Given the description of an element on the screen output the (x, y) to click on. 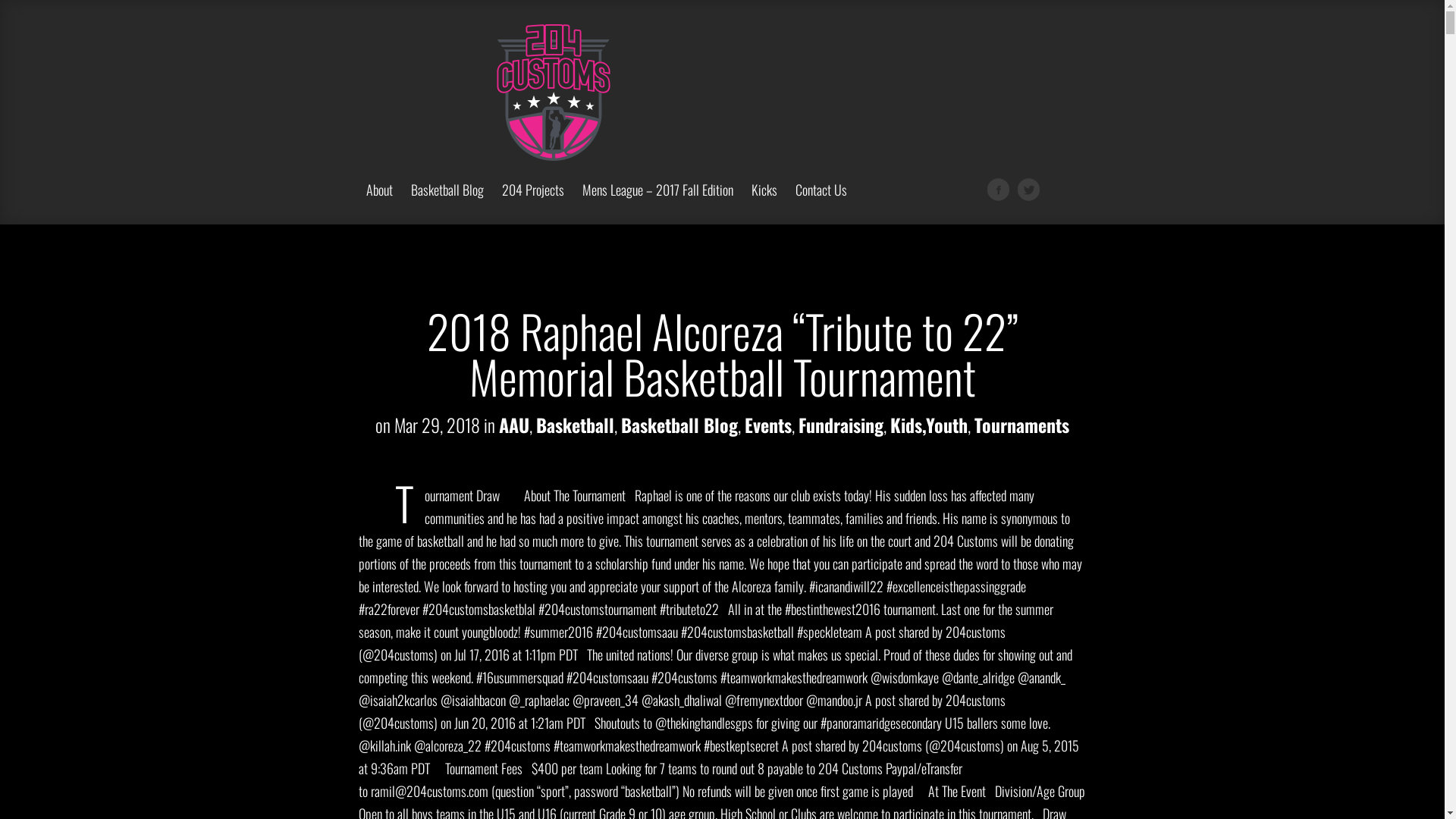
AAU Element type: text (513, 424)
204 Projects Element type: text (532, 203)
Contact Us Element type: text (820, 203)
Basketball Blog Element type: text (447, 203)
Events Element type: text (767, 424)
Fundraising Element type: text (840, 424)
Kicks Element type: text (763, 203)
Basketball Blog Element type: text (679, 424)
Kids,Youth Element type: text (928, 424)
Basketball Element type: text (575, 424)
About Element type: text (378, 203)
Tournaments Element type: text (1021, 424)
